Given the description of an element on the screen output the (x, y) to click on. 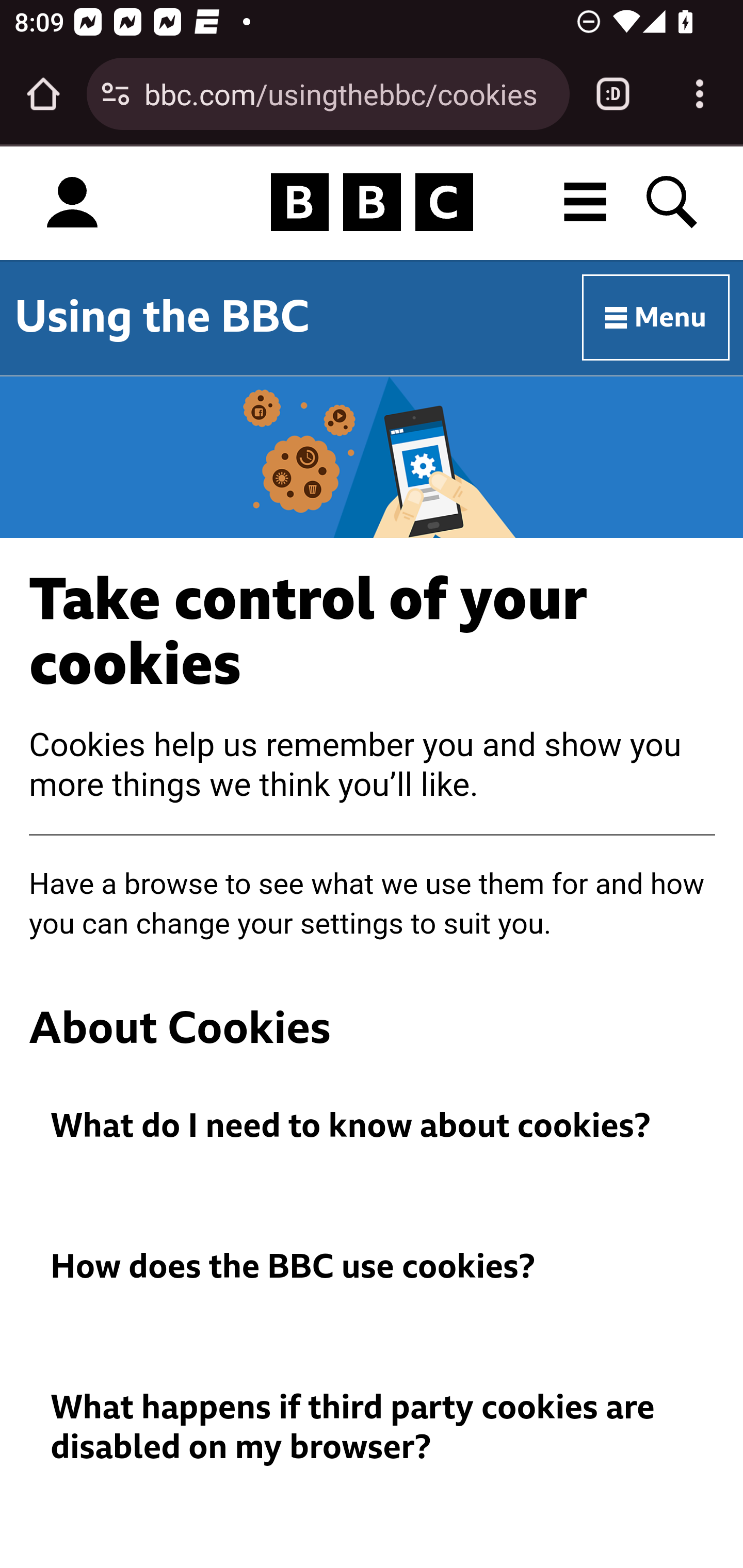
Open the home page (43, 93)
Connection is secure (115, 93)
Switch or close tabs (612, 93)
Customize and control Google Chrome (699, 93)
bbc.com/usingthebbc/cookies (349, 92)
All BBC destinations menu (585, 202)
Search BBC (672, 202)
Sign in (71, 203)
Homepage (371, 203)
Menu (656, 317)
Using the BBC (162, 316)
What do I need to know about cookies? (372, 1126)
How does the BBC use cookies? (372, 1266)
